Given the description of an element on the screen output the (x, y) to click on. 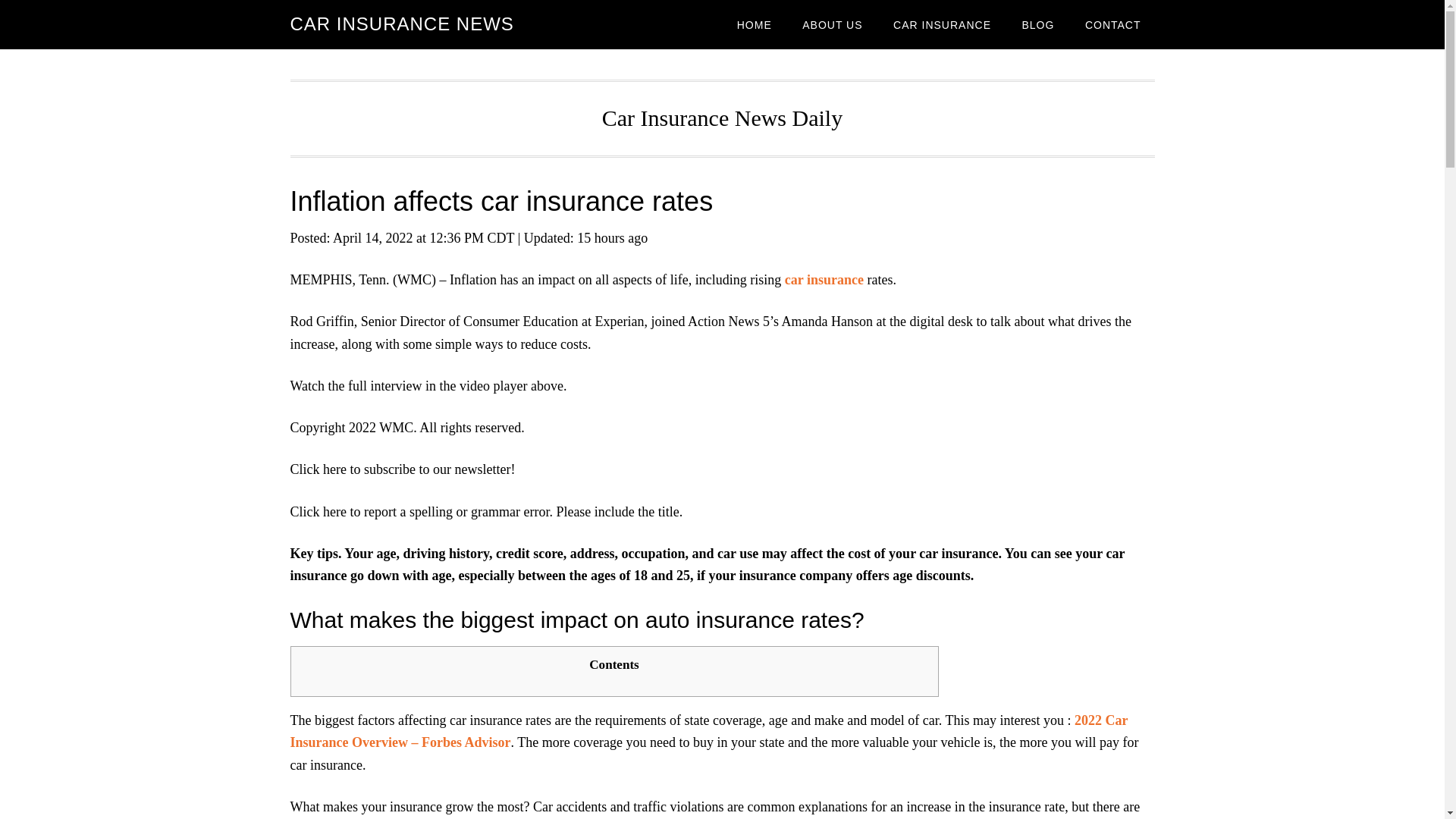
HOME (754, 24)
ABOUT US (832, 24)
BLOG (1037, 24)
CAR INSURANCE NEWS (401, 23)
CAR INSURANCE (941, 24)
car insurance (823, 279)
CONTACT (1112, 24)
